Given the description of an element on the screen output the (x, y) to click on. 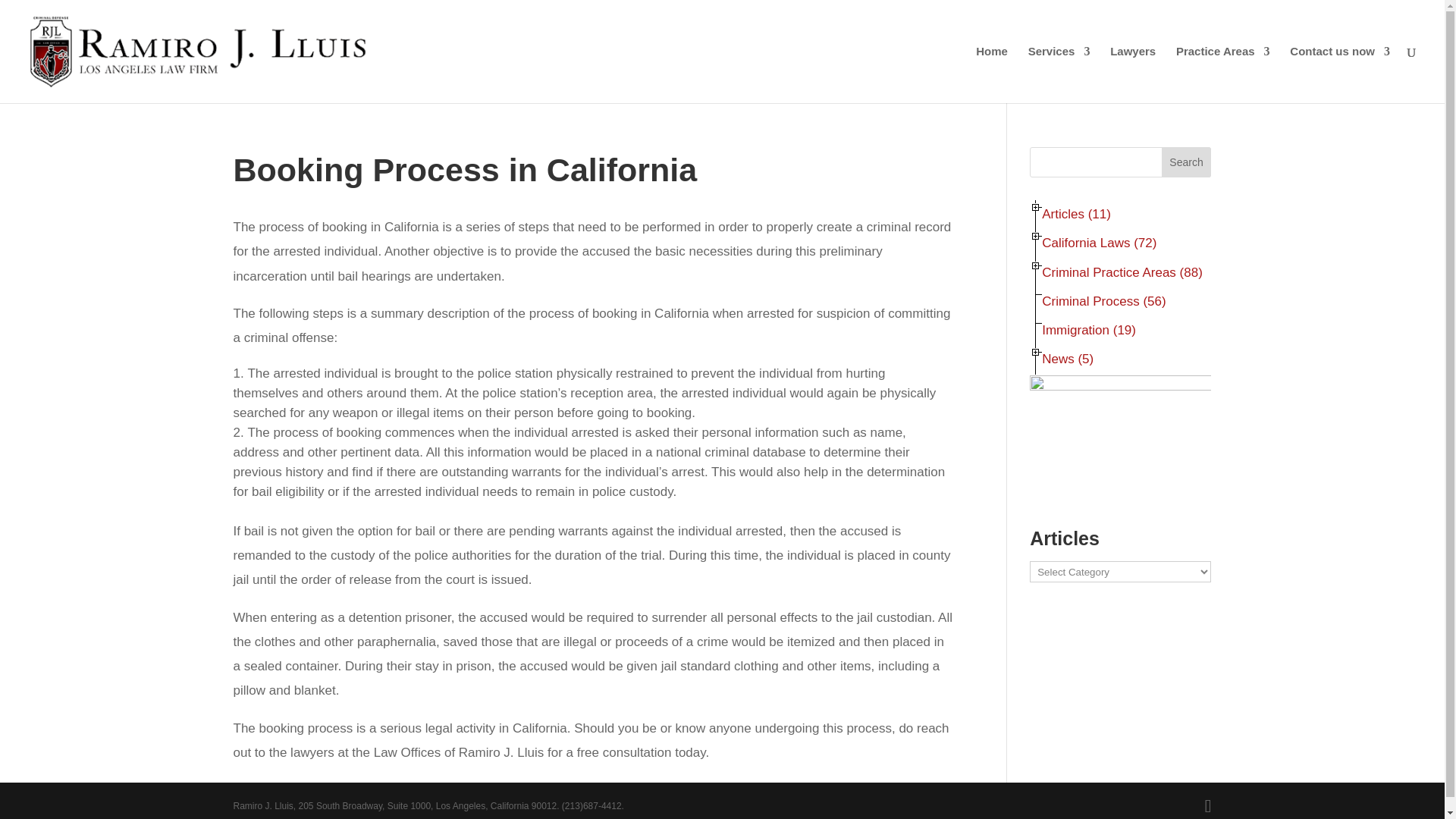
Practice Areas (1222, 74)
Contact us now (1340, 74)
Home (991, 74)
los angeles criminal lawyers (1132, 74)
Services (1058, 74)
Lawyers (1132, 74)
Search (1186, 162)
